Given the description of an element on the screen output the (x, y) to click on. 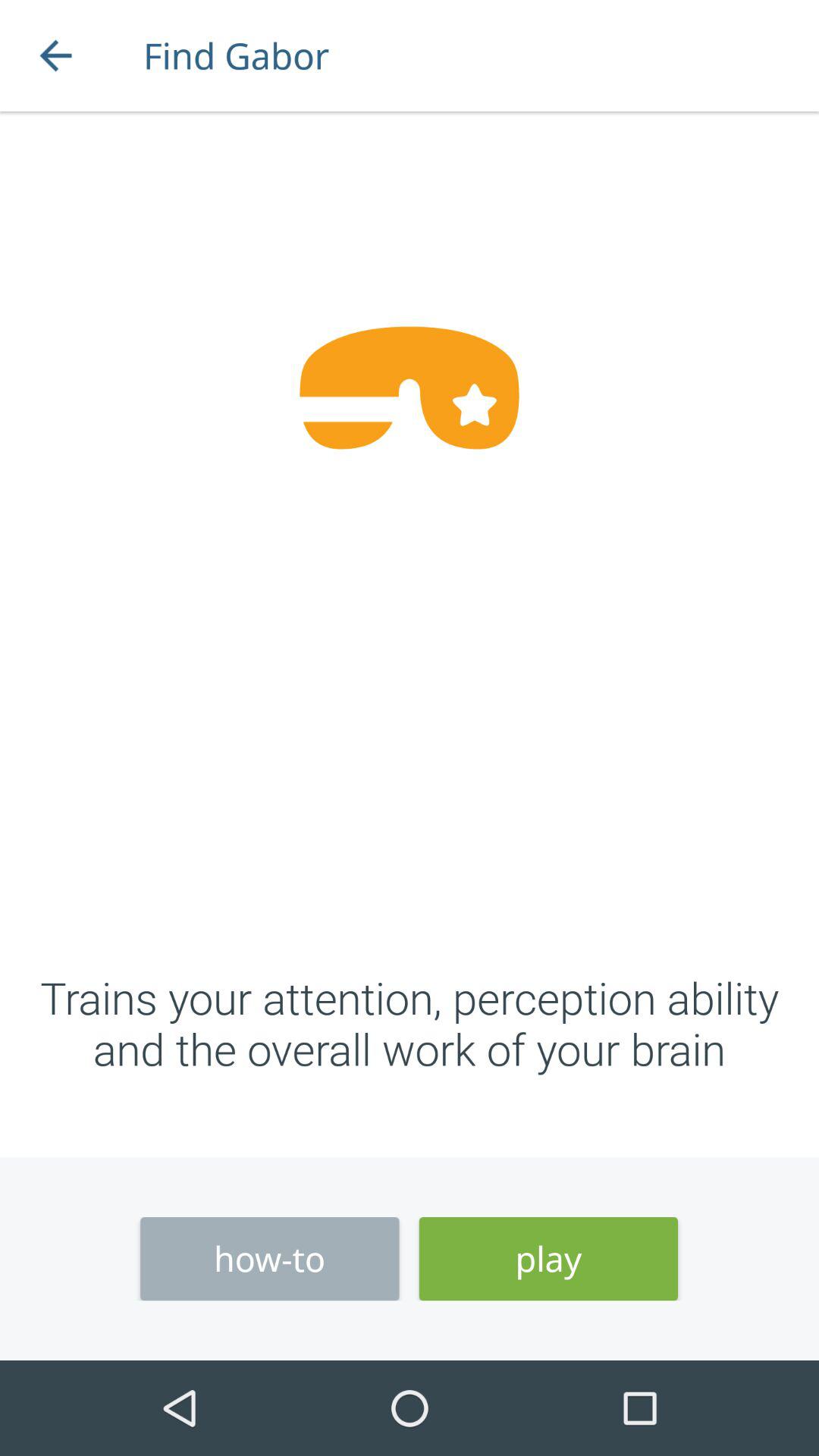
turn on item below the trains your attention icon (269, 1258)
